Given the description of an element on the screen output the (x, y) to click on. 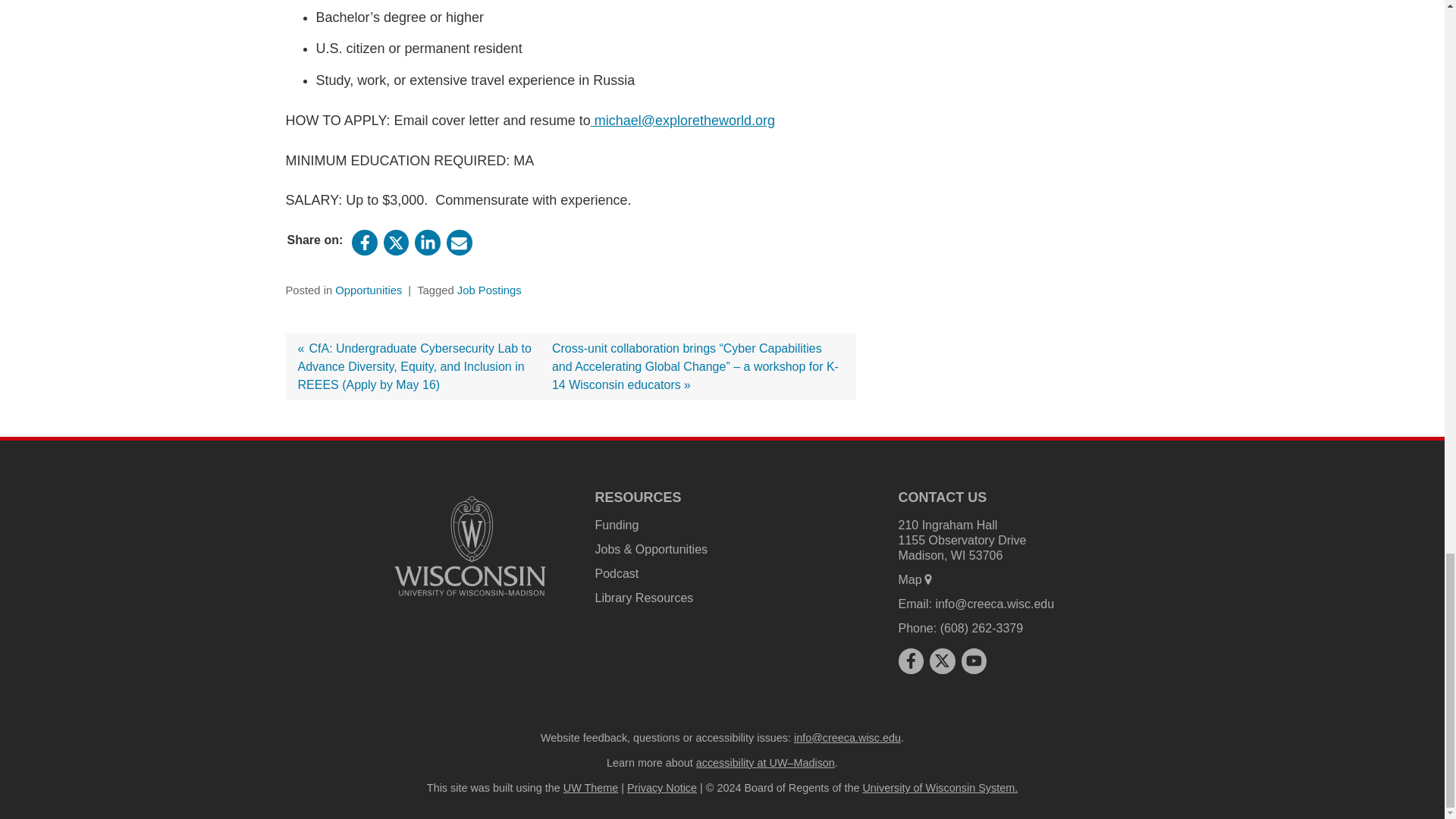
youtube (973, 660)
Share on X Twitter (396, 242)
Share on X Twitter (941, 660)
Share on Facebook (364, 242)
Share on Facebook (910, 660)
map marker (927, 579)
Share on LinkedIn (427, 242)
University logo that links to main university website (470, 545)
Share on Email (459, 242)
